Given the description of an element on the screen output the (x, y) to click on. 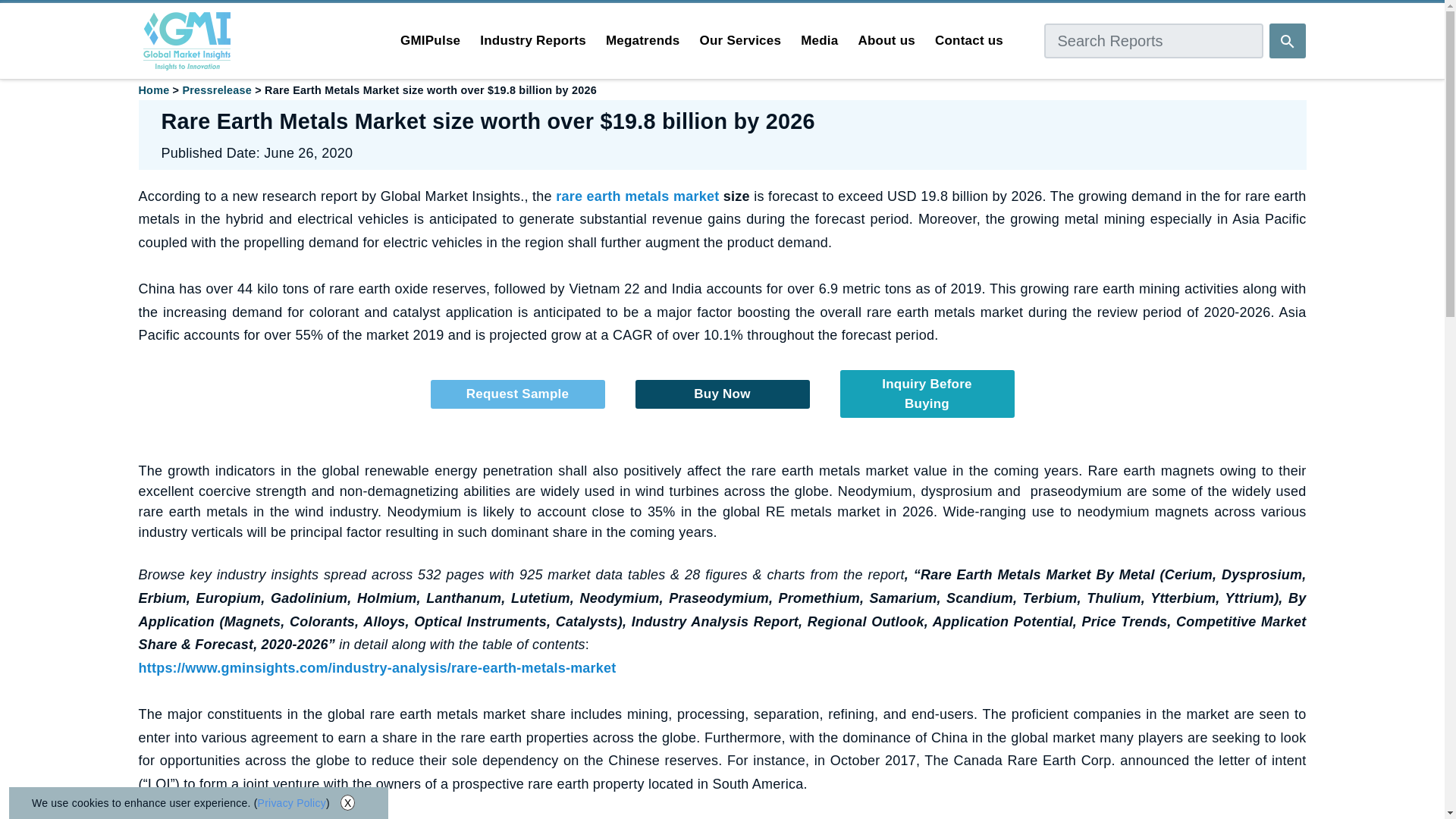
Logo (187, 40)
